Given the description of an element on the screen output the (x, y) to click on. 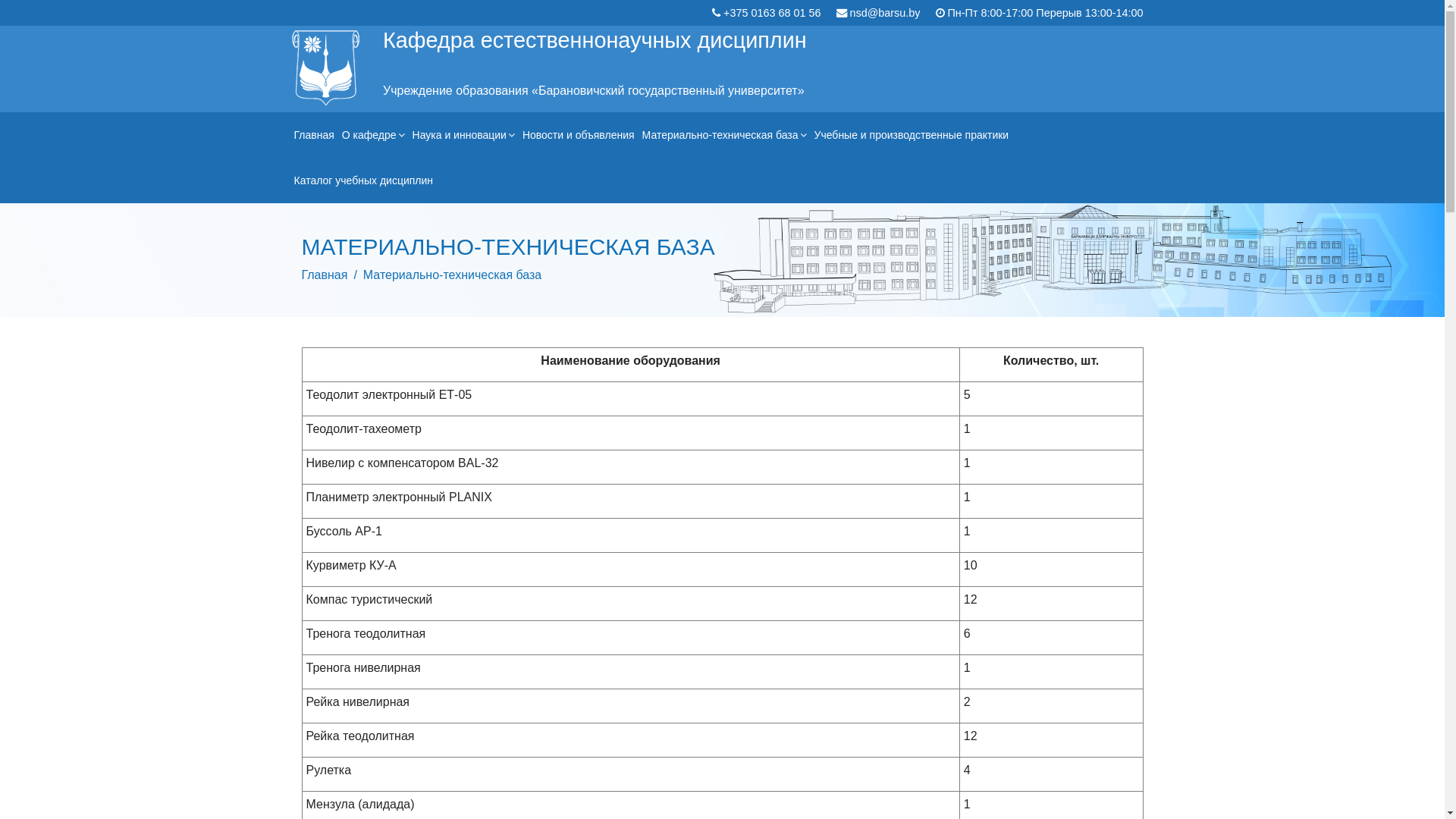
+375 0163 68 01 56 Element type: text (771, 12)
nsd@barsu.by Element type: text (884, 12)
